Given the description of an element on the screen output the (x, y) to click on. 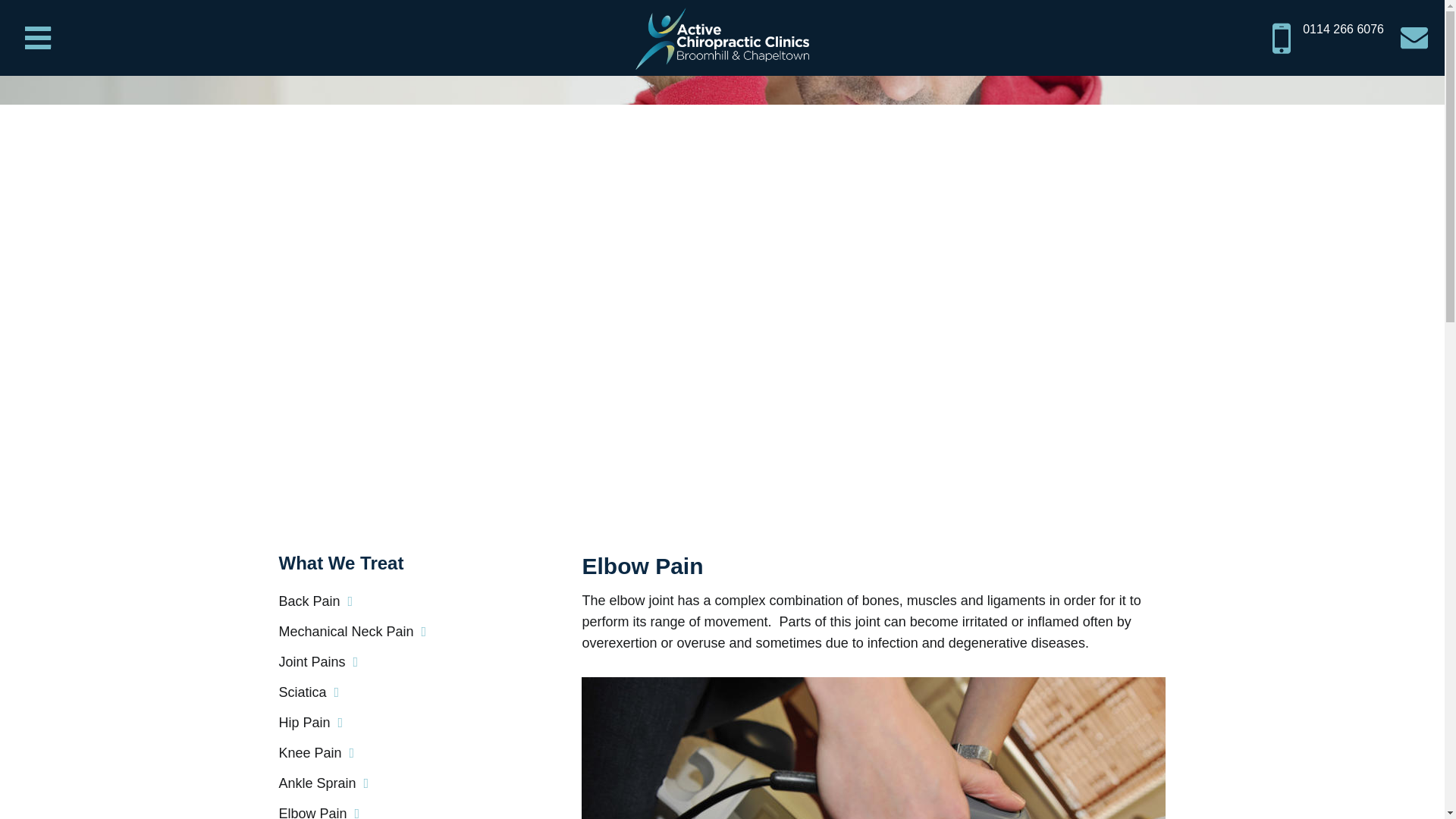
Knee Pain (317, 752)
Joint Pains (318, 661)
What We Treat (381, 563)
Menu (37, 38)
Hip Pain (311, 722)
Active Chiropractic Clinics (721, 31)
Ankle Sprain (324, 783)
Sciatica (309, 692)
Back Pain (316, 601)
0114 266 6076 (1328, 38)
